Given the description of an element on the screen output the (x, y) to click on. 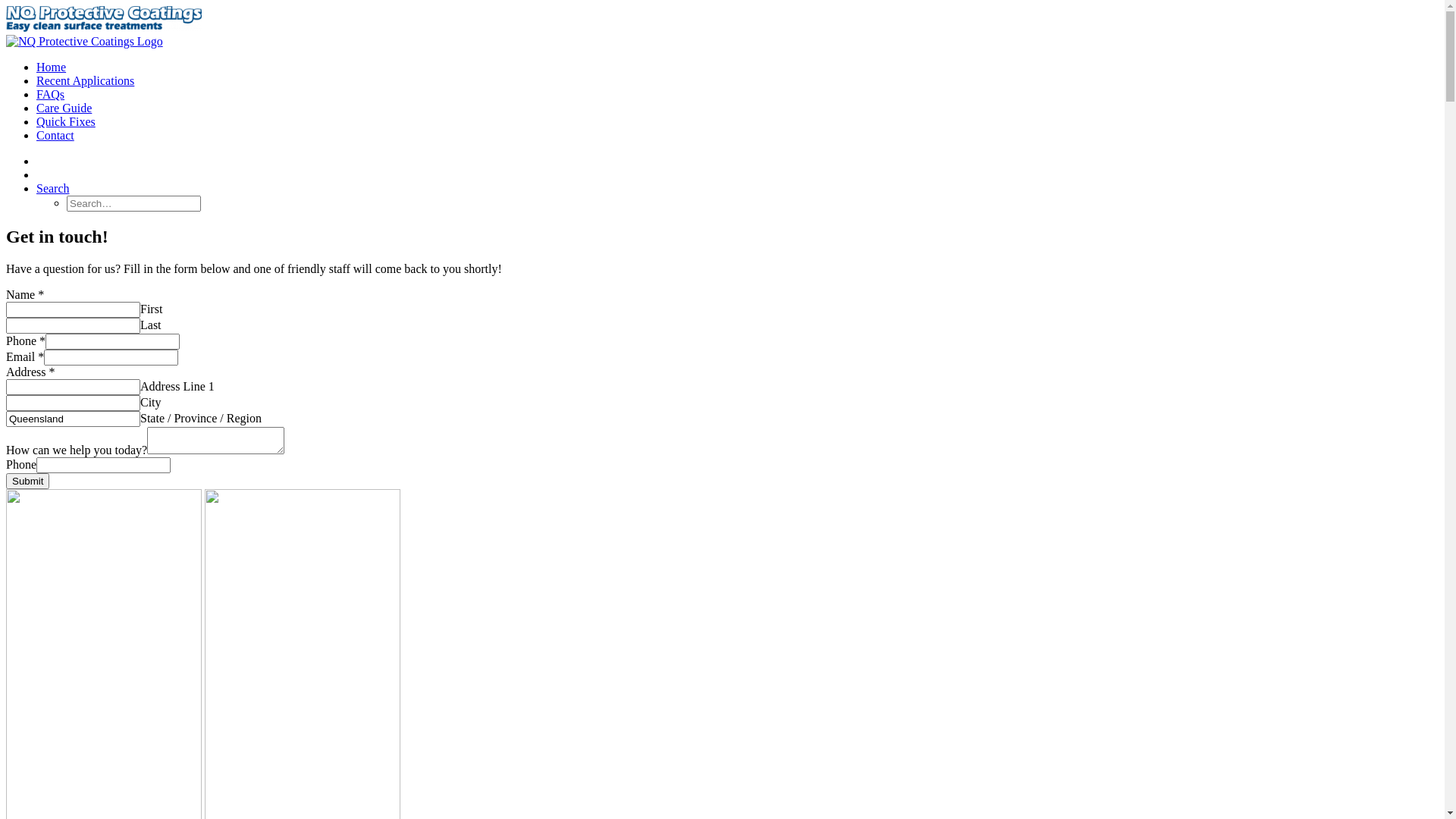
Submit Element type: text (27, 481)
Quick Fixes Element type: text (65, 121)
Home Element type: text (50, 66)
Recent Applications Element type: text (85, 80)
Search for: Element type: hover (133, 203)
FAQs Element type: text (50, 93)
Search Element type: text (52, 188)
Care Guide Element type: text (63, 107)
Contact Element type: text (55, 134)
